Given the description of an element on the screen output the (x, y) to click on. 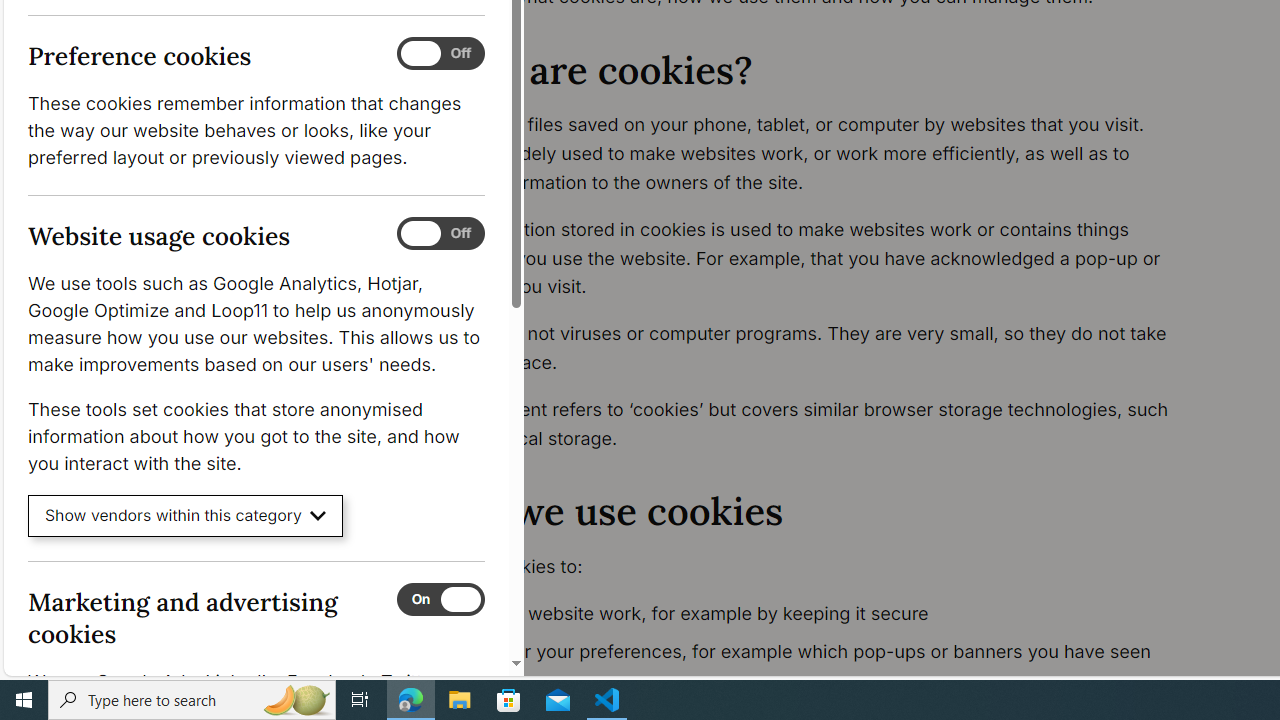
Preference cookies (440, 53)
Website usage cookies (440, 233)
Show vendors within this category (185, 516)
make our website work, for example by keeping it secure (818, 614)
Marketing and advertising cookies (440, 599)
